Given the description of an element on the screen output the (x, y) to click on. 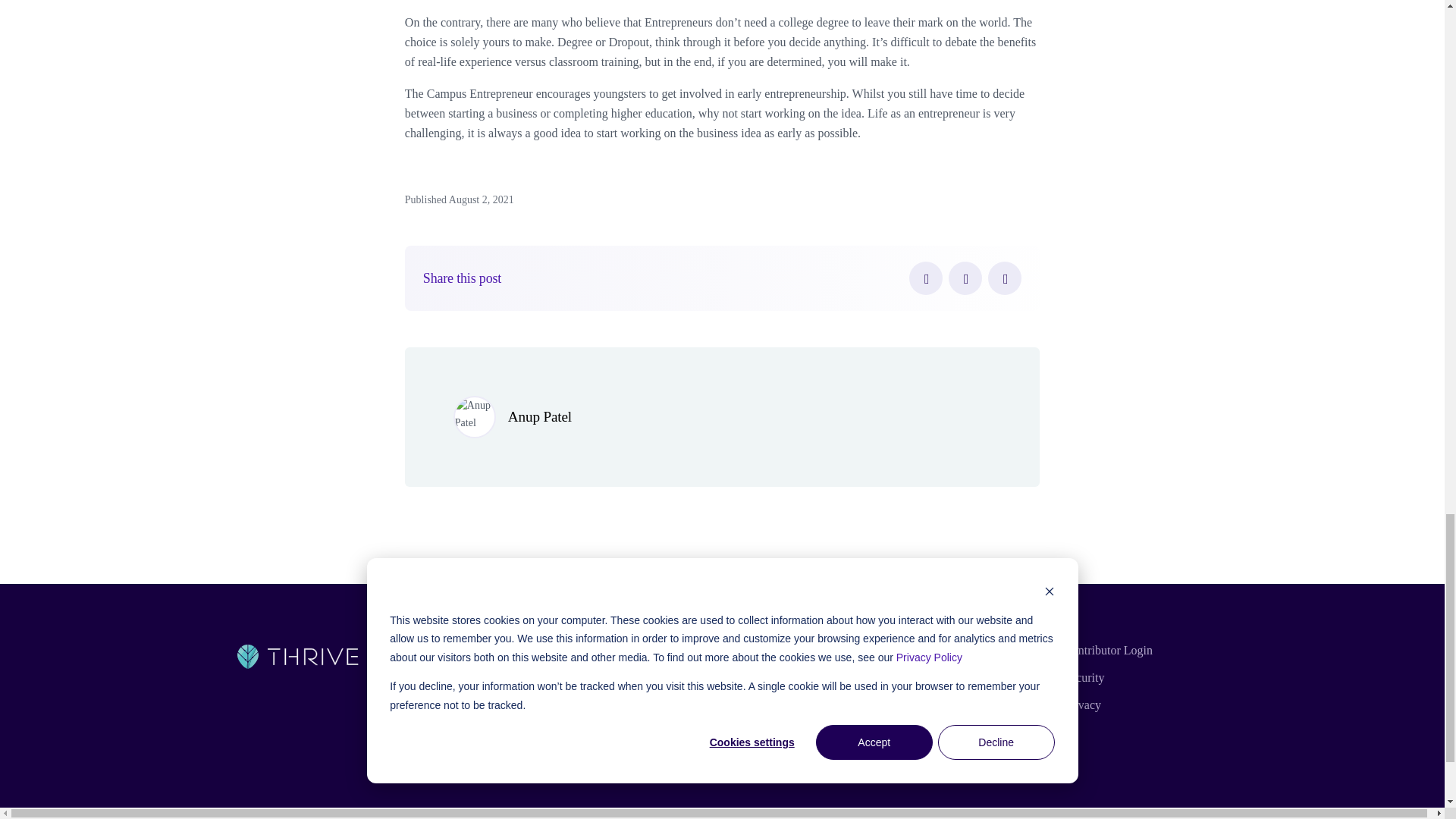
LinkedIn (1005, 277)
Anup Patel (540, 416)
Twitter (965, 277)
Facebook (925, 277)
